Given the description of an element on the screen output the (x, y) to click on. 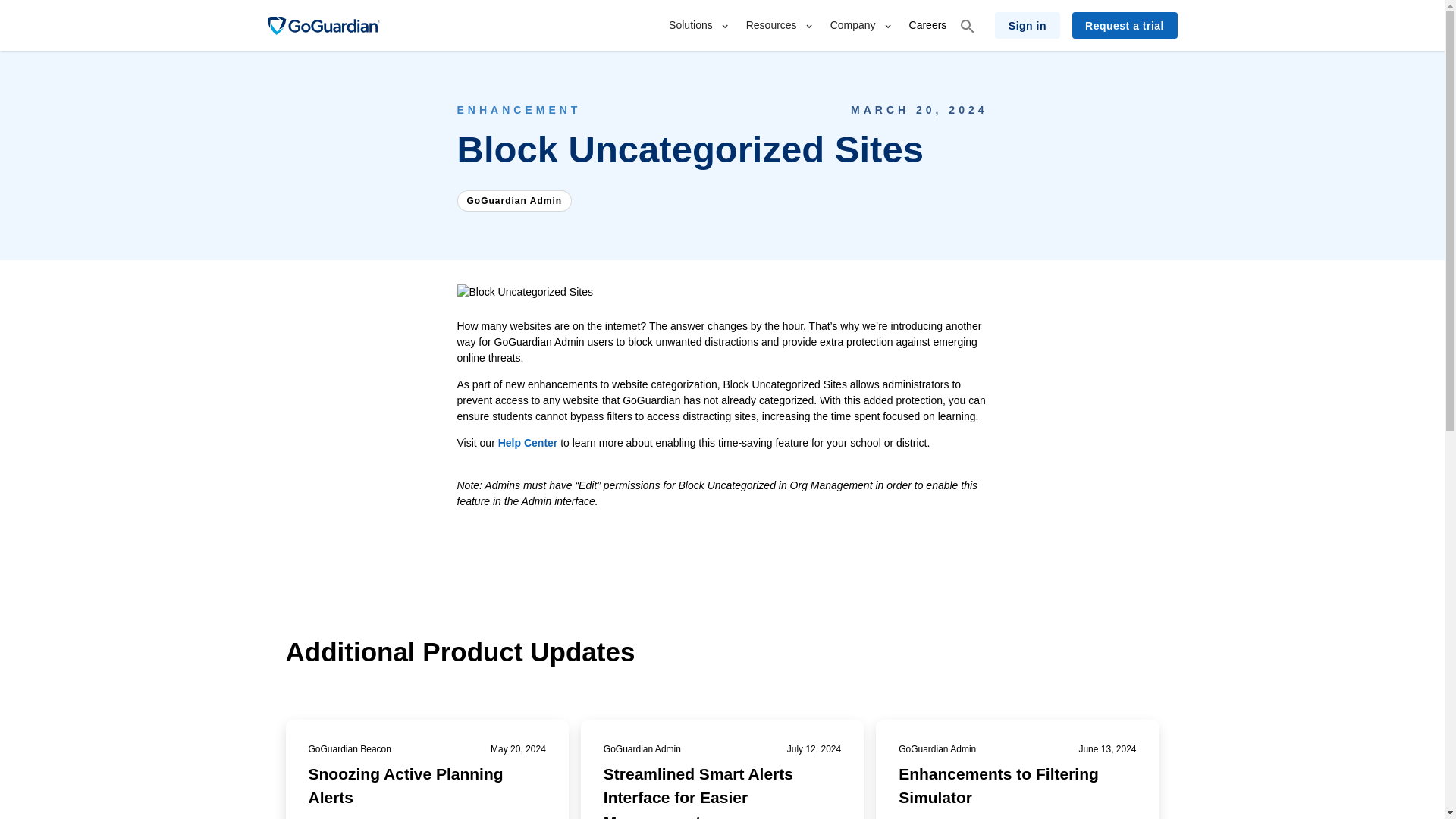
Sign in (1026, 25)
Careers (927, 25)
Help Center (527, 442)
Request a trial (1124, 25)
